Given the description of an element on the screen output the (x, y) to click on. 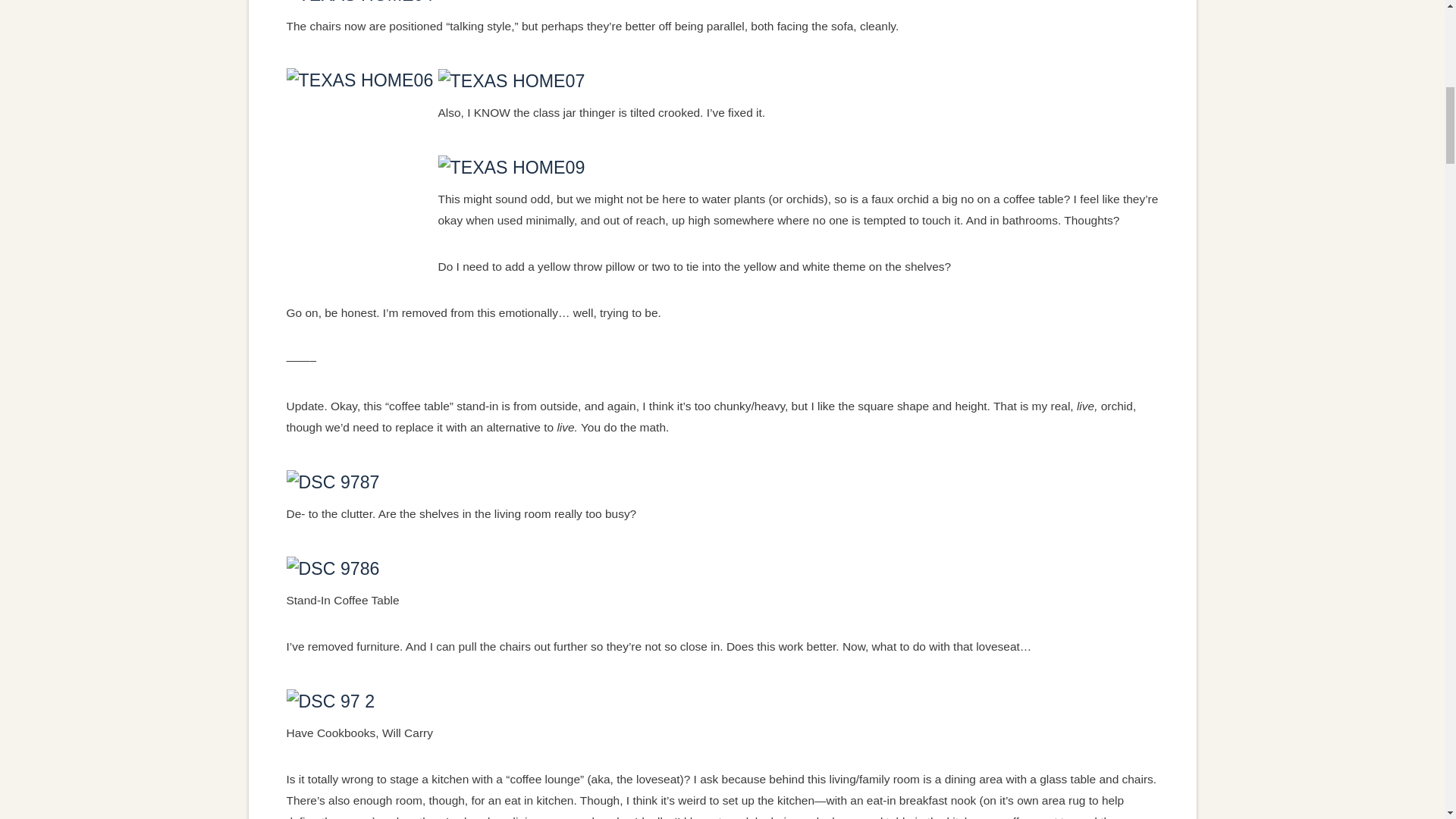
DSC 9786 (333, 567)
texas home07 (511, 80)
DSC 97 2 (330, 700)
texas home04 (359, 1)
texas home09 (511, 166)
DSC 9787 (333, 480)
